Given the description of an element on the screen output the (x, y) to click on. 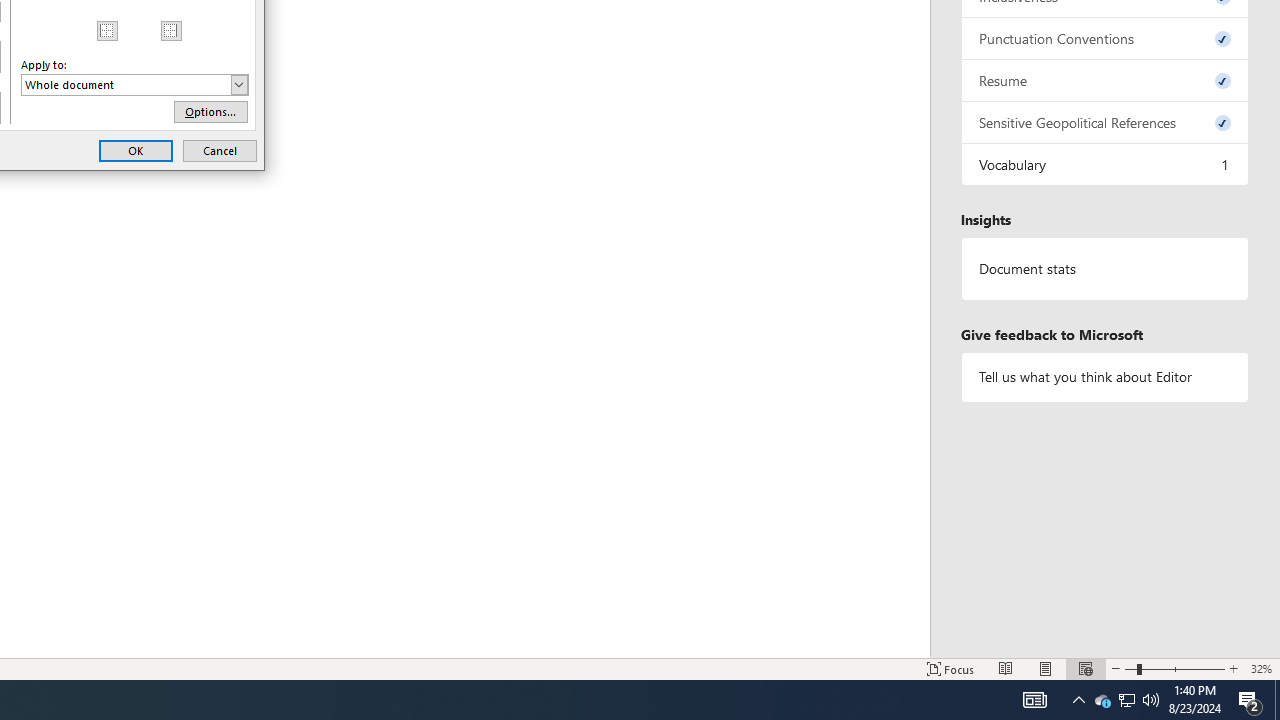
Tell us what you think about Editor (1105, 376)
User Promoted Notification Area (1126, 699)
Left Border (107, 30)
Show desktop (1277, 699)
Vocabulary, 1 issue. Press space or enter to review items. (1105, 164)
Notification Chevron (1078, 699)
Q2790: 100% (1151, 699)
Cancel (219, 150)
Resume, 0 issues. Press space or enter to review items. (1105, 79)
Options... (210, 111)
